Given the description of an element on the screen output the (x, y) to click on. 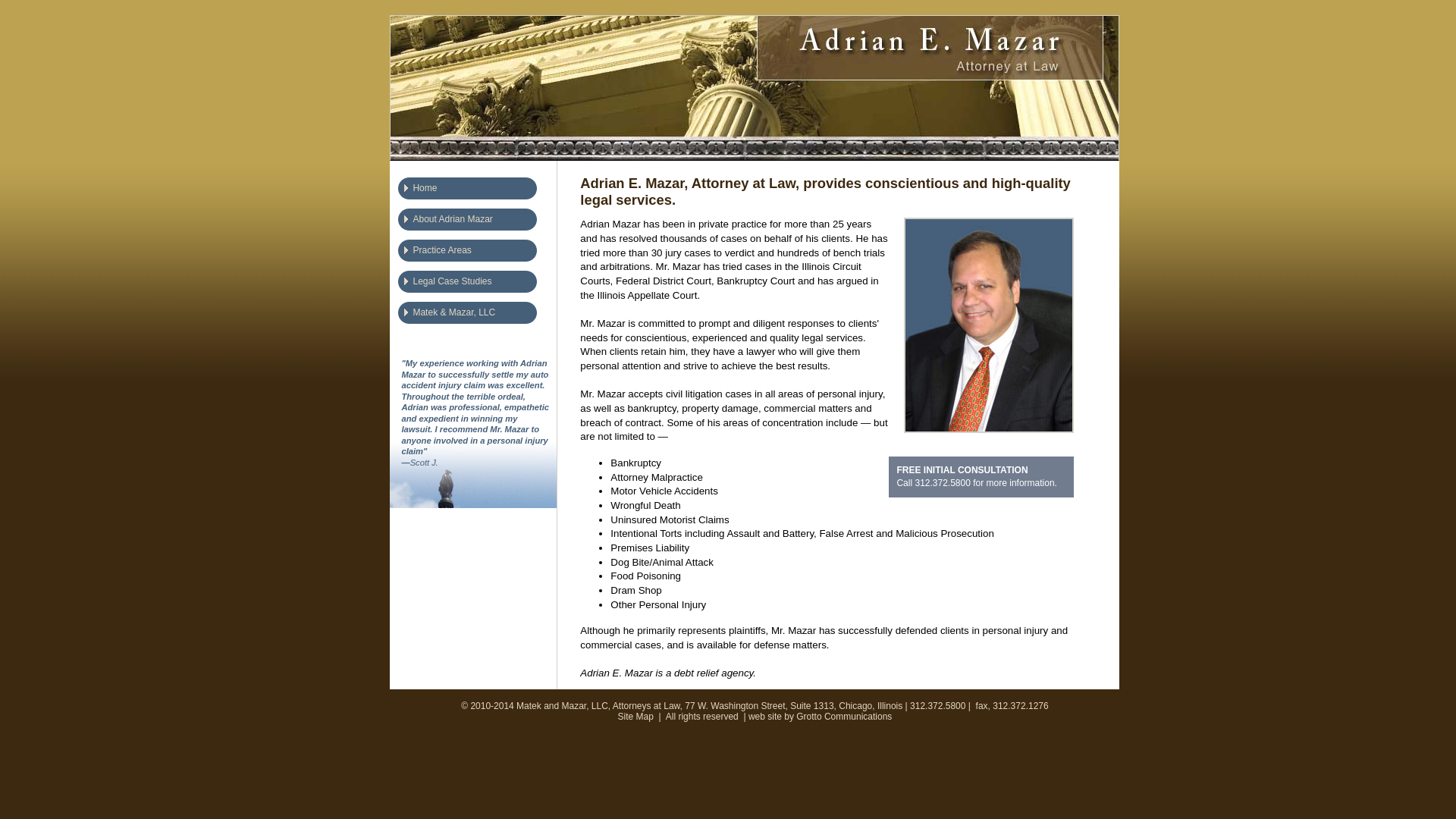
Site Map (635, 716)
Grotto Communications (843, 716)
Practice Areas (475, 253)
Services (475, 222)
About (475, 253)
Home (475, 191)
Home (475, 191)
Portfolio (475, 284)
Store (475, 315)
Legal Case Studies (475, 284)
